Given the description of an element on the screen output the (x, y) to click on. 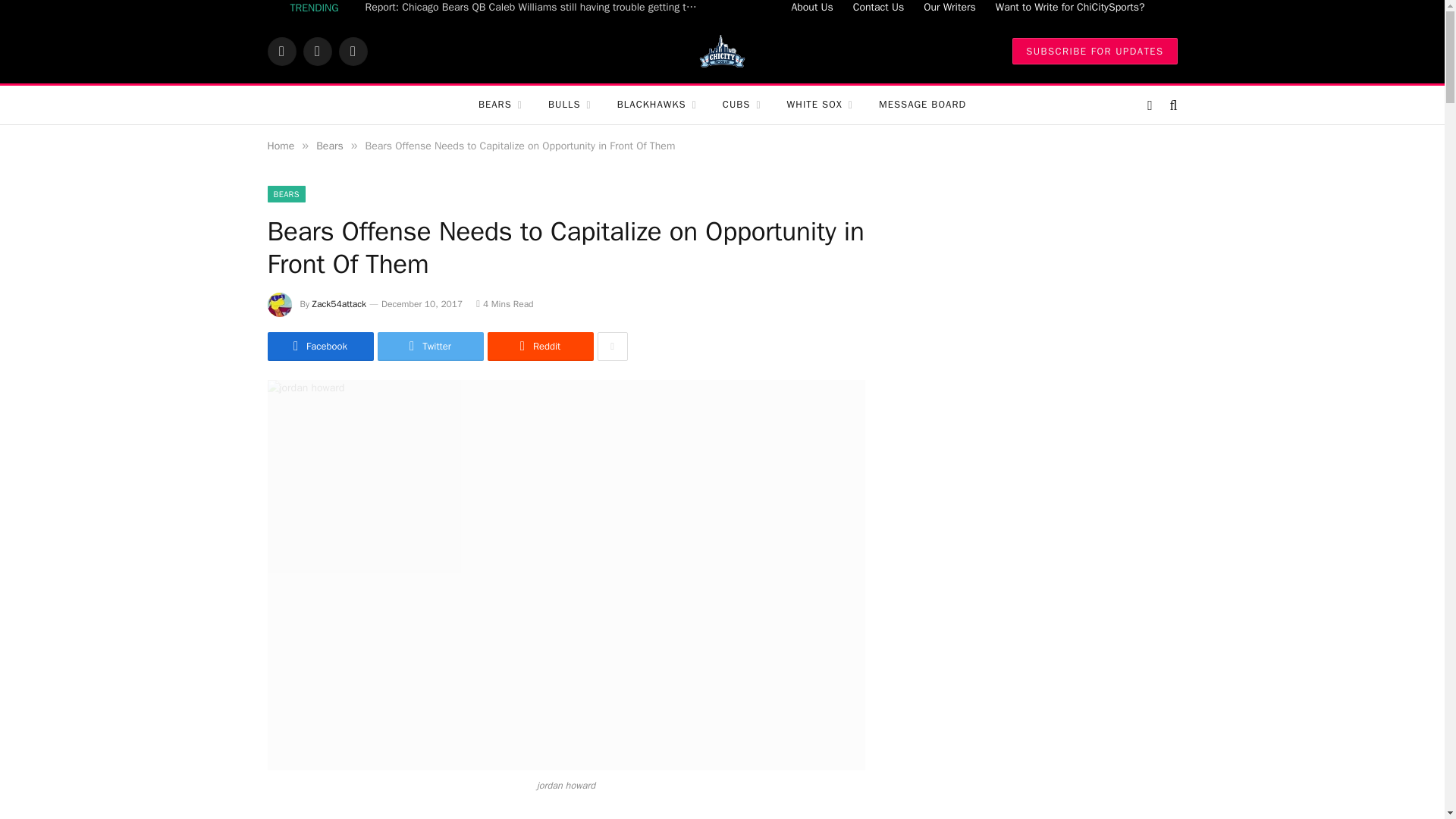
Share on Reddit (539, 346)
Switch to Dark Design - easier on eyes. (1149, 105)
Share on Twitter (430, 346)
Share on Facebook (319, 346)
Posts by Zack54attack (339, 304)
Show More Social Sharing (611, 346)
